Given the description of an element on the screen output the (x, y) to click on. 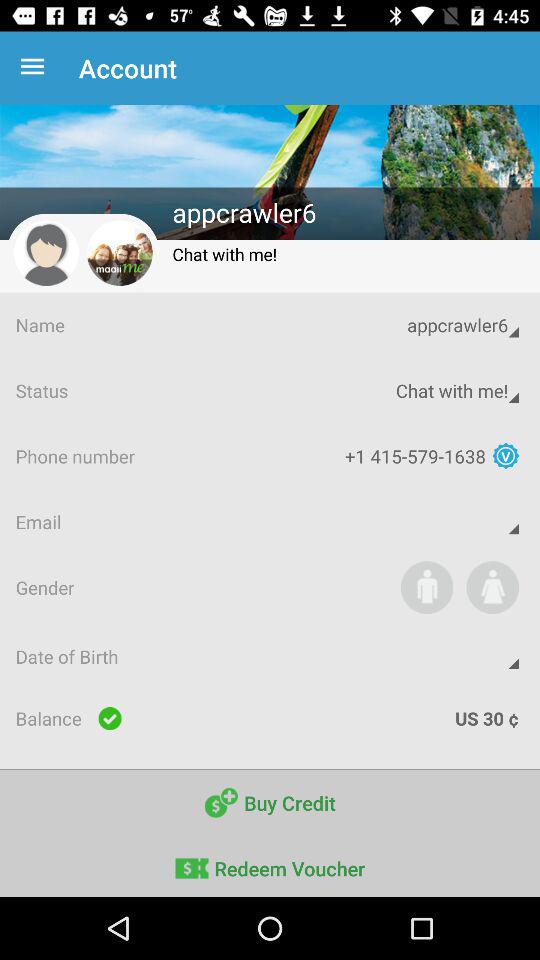
turn on the app next to the account item (36, 68)
